Given the description of an element on the screen output the (x, y) to click on. 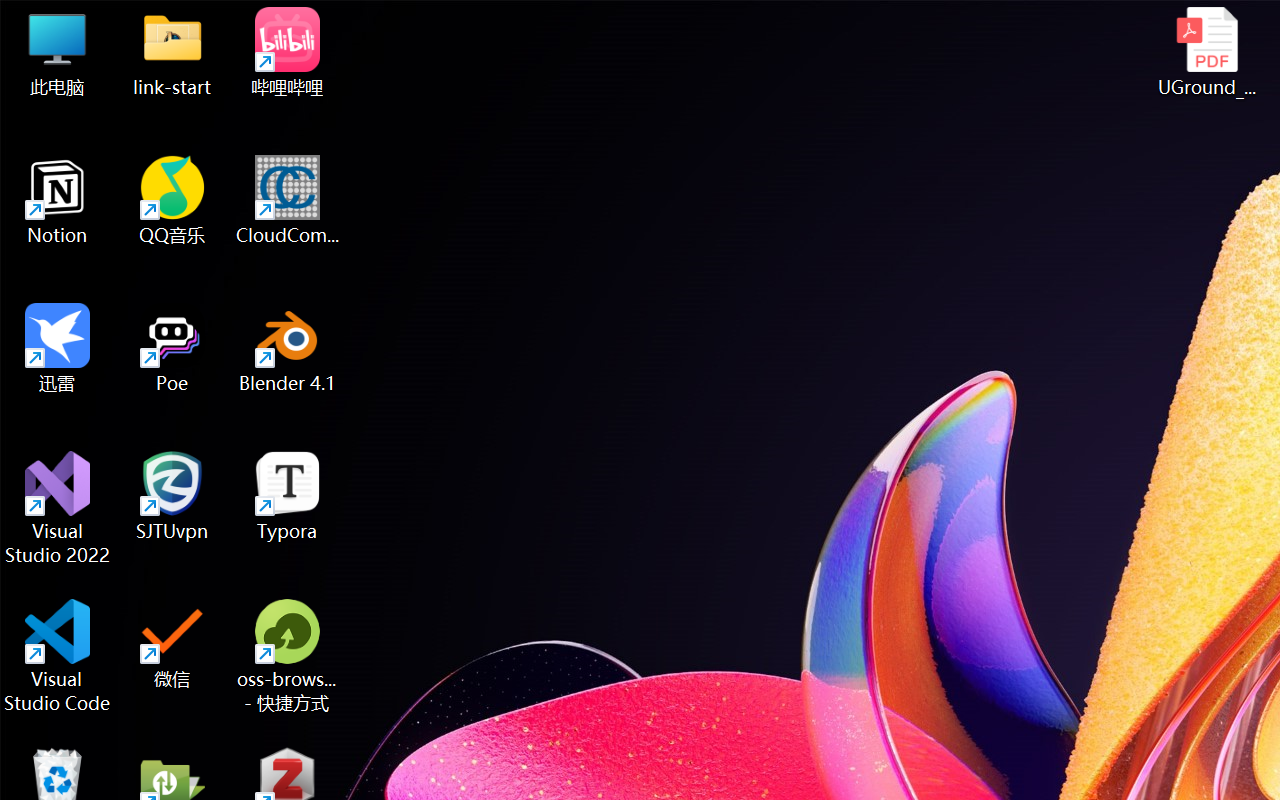
Sign in - Google Accounts (1033, 22)
Download PDF (1209, 593)
Currencies - Google Finance (396, 22)
In case of problems or disagreements (152, 504)
Archived versions (1098, 593)
Sign in - Google Accounts (636, 22)
